Given the description of an element on the screen output the (x, y) to click on. 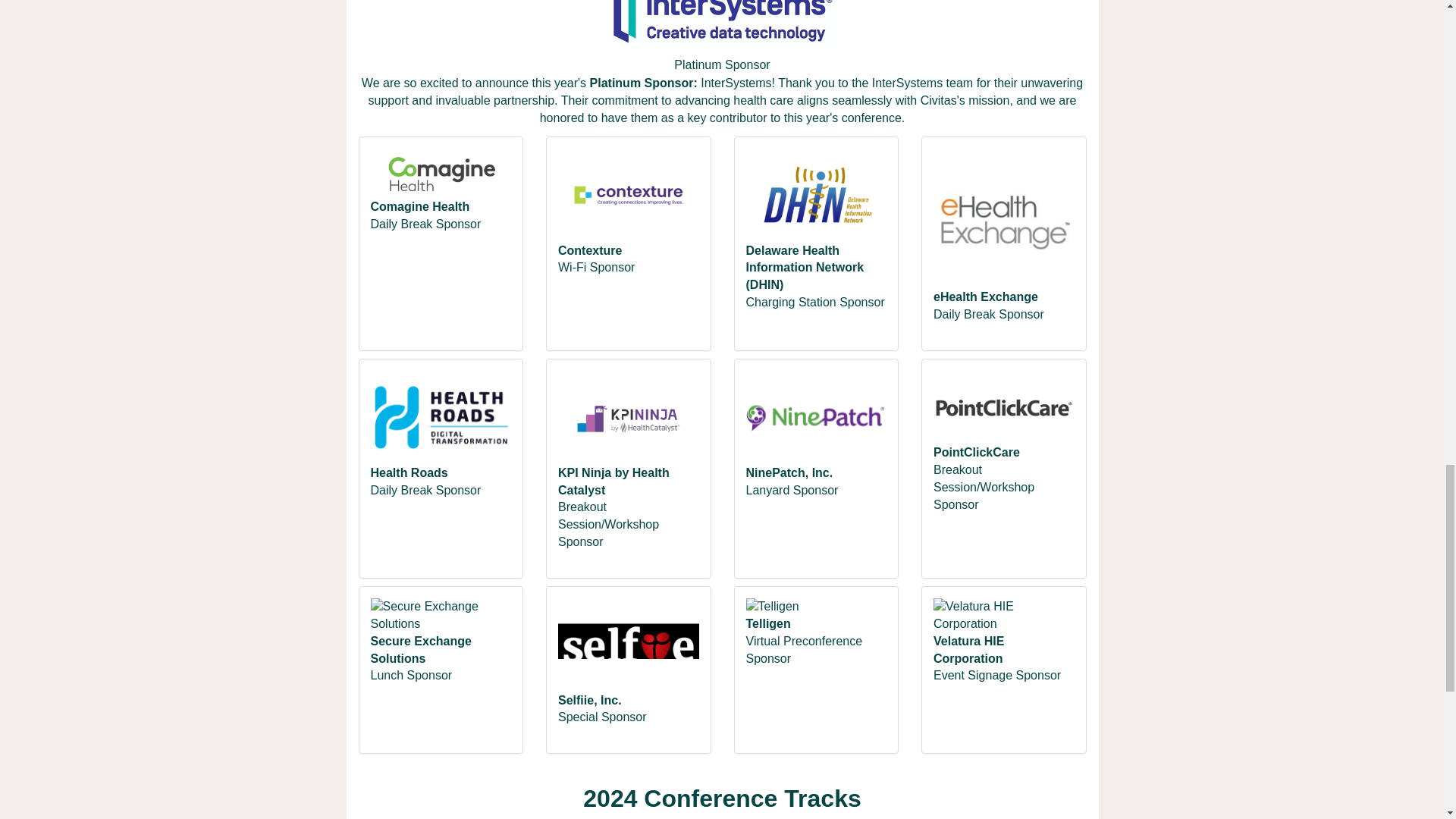
Sponsor Details (1003, 622)
Sponsor Details (627, 652)
Sponsor Details (815, 613)
Sponsor Details (627, 425)
Sponsor Details (440, 180)
Sponsor Details (627, 202)
Sponsor Details (440, 425)
Sponsor Details (1003, 225)
Sponsor Details (440, 622)
InterSystems (735, 82)
Sponsor Details (815, 425)
Sponsor Details (1003, 414)
Sponsor Details (815, 202)
